Given the description of an element on the screen output the (x, y) to click on. 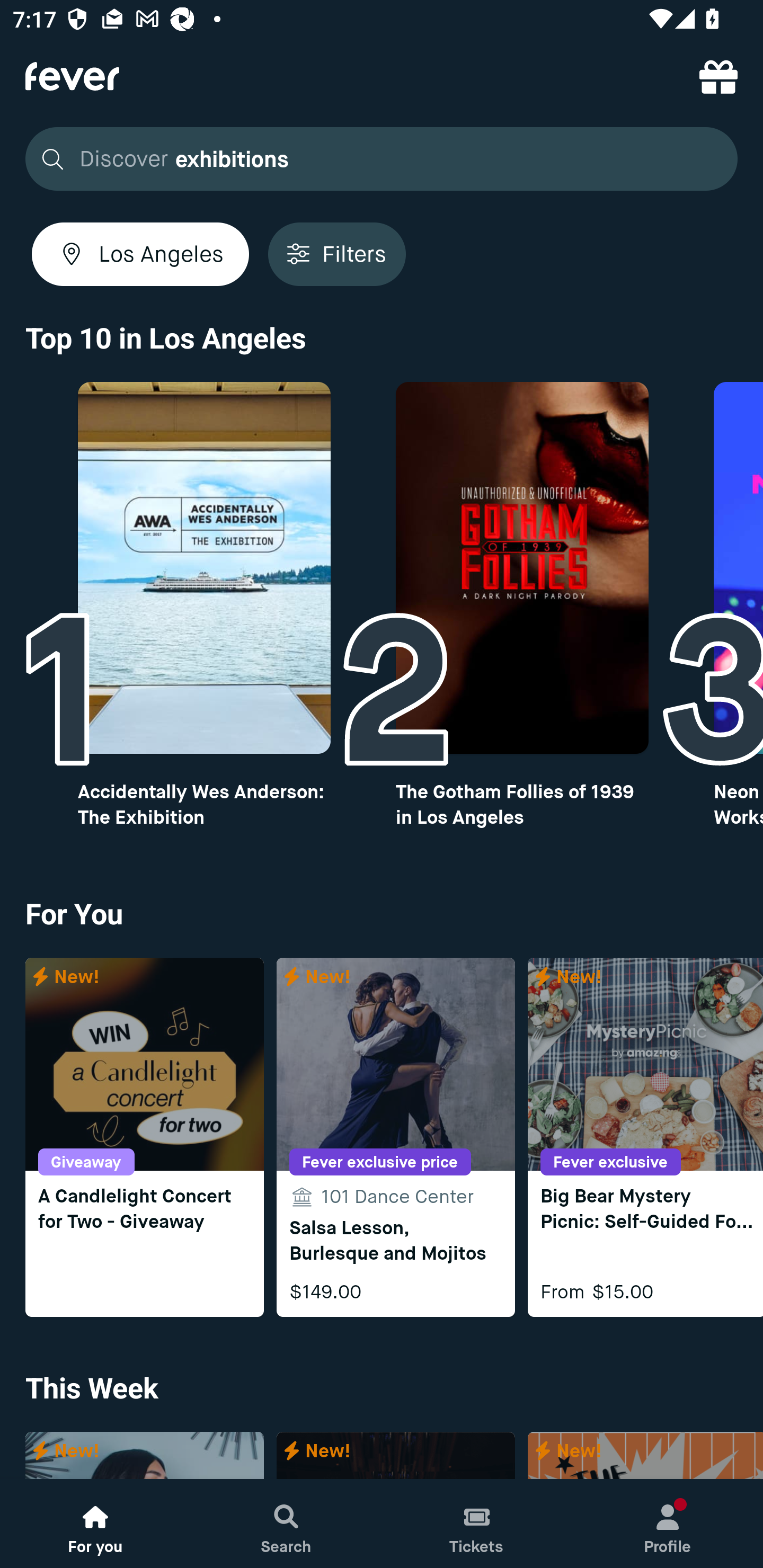
referral (718, 75)
Discover exhibitions (381, 158)
Discover exhibitions (376, 158)
Los Angeles (140, 253)
Filters (336, 253)
Top10 image (203, 568)
Top10 image (521, 568)
Search (285, 1523)
Tickets (476, 1523)
Profile, New notification Profile (667, 1523)
